Given the description of an element on the screen output the (x, y) to click on. 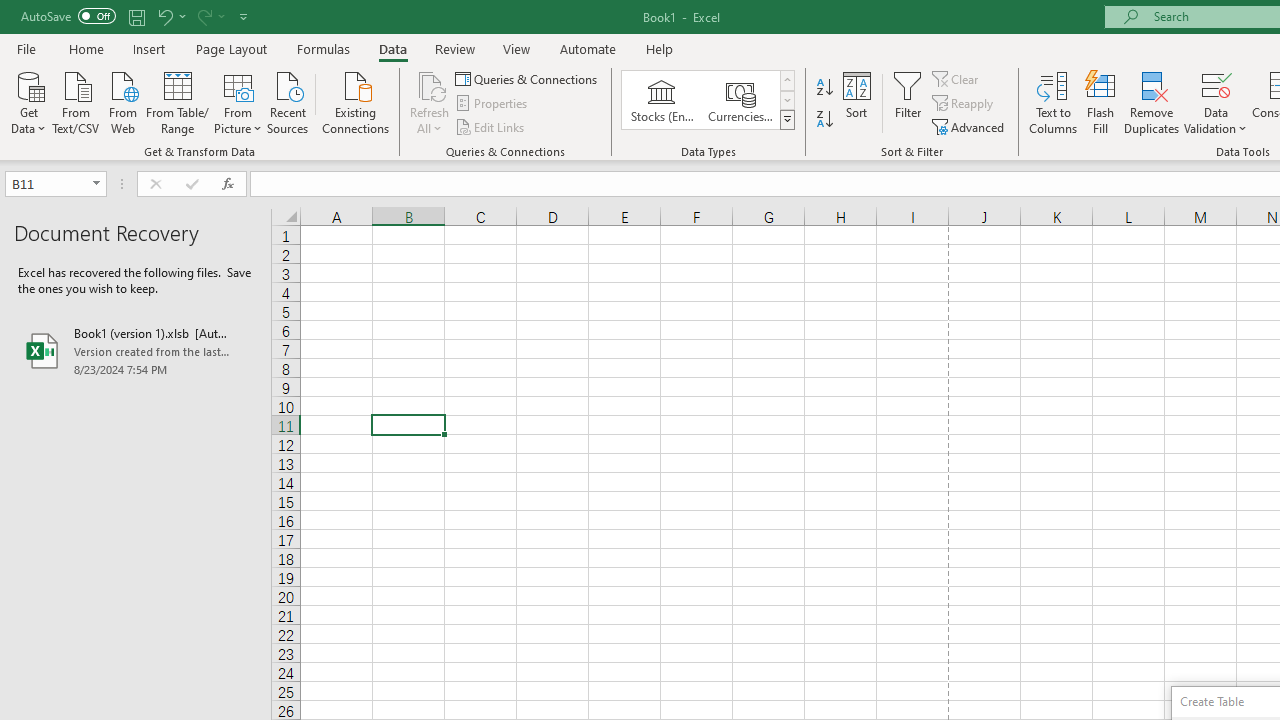
From Picture (238, 101)
Data Validation... (1215, 102)
System (10, 11)
Review (454, 48)
Redo (209, 15)
Recent Sources (287, 101)
Currencies (English) (740, 100)
Name Box (46, 183)
Advanced... (970, 126)
More Options (1215, 121)
Reapply (964, 103)
Sort A to Z (824, 87)
Row Down (786, 100)
Stocks (English) (662, 100)
Save (136, 15)
